Given the description of an element on the screen output the (x, y) to click on. 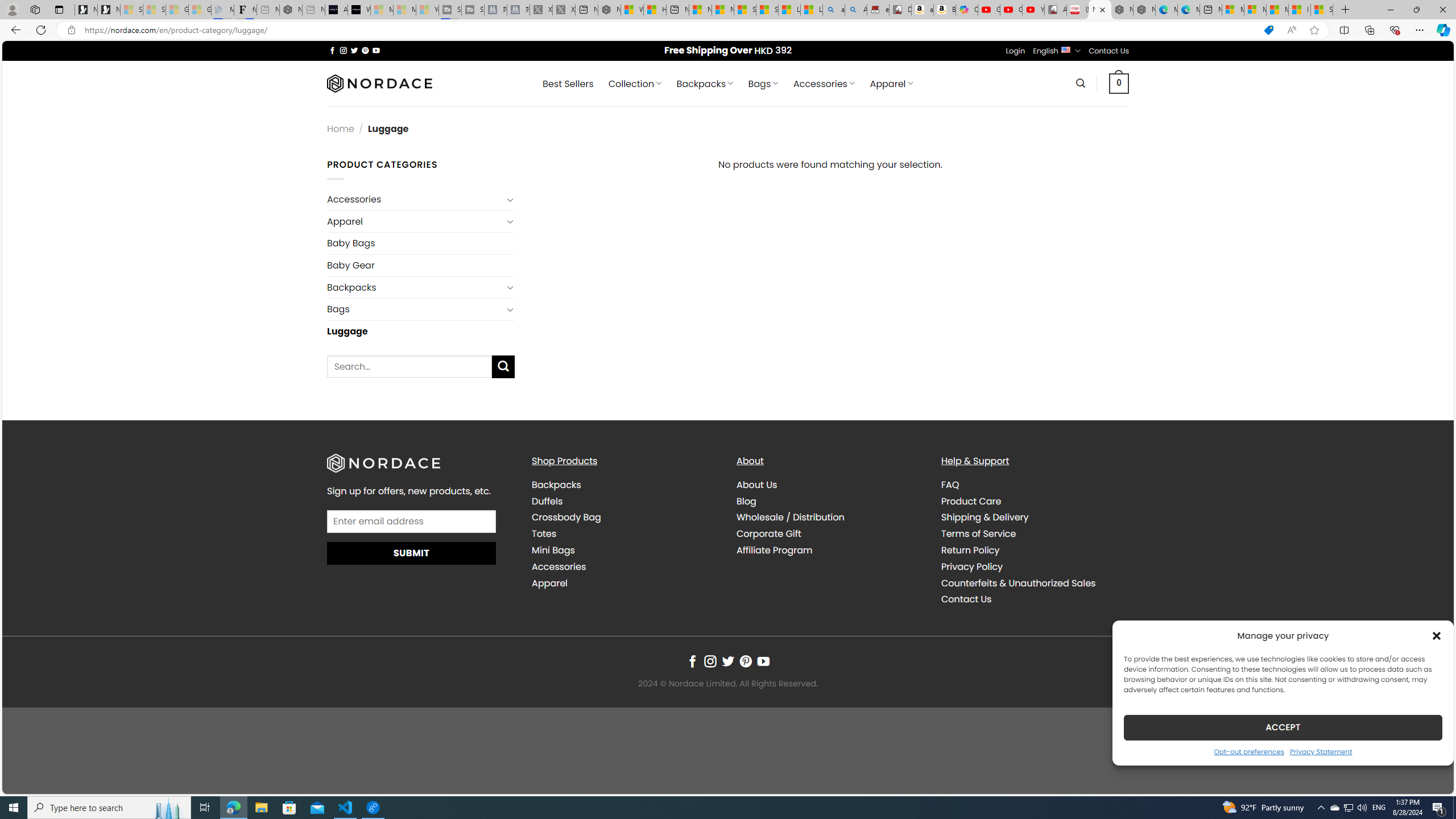
Go to top (1430, 777)
Login (1015, 50)
X - Sleeping (563, 9)
Duffels (547, 500)
Apparel (625, 583)
Shipping & Delivery (984, 517)
Follow on Twitter (727, 661)
Microsoft Start - Sleeping (404, 9)
